Given the description of an element on the screen output the (x, y) to click on. 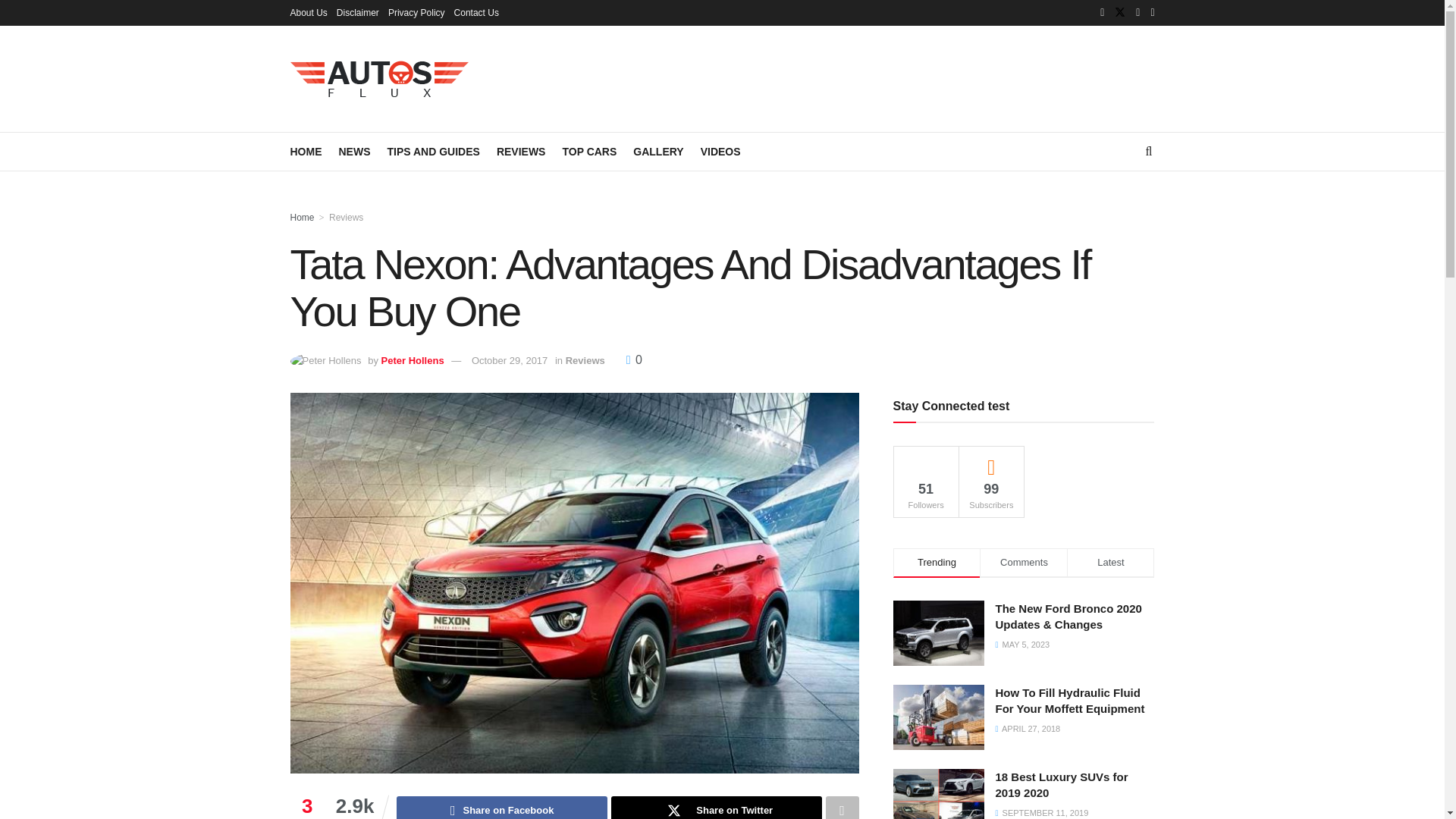
TOP CARS (588, 151)
VIDEOS (720, 151)
TIPS AND GUIDES (433, 151)
Reviews (345, 217)
About Us (307, 12)
Share on Facebook (501, 807)
Reviews (585, 360)
Disclaimer (357, 12)
0 (634, 359)
GALLERY (657, 151)
